Given the description of an element on the screen output the (x, y) to click on. 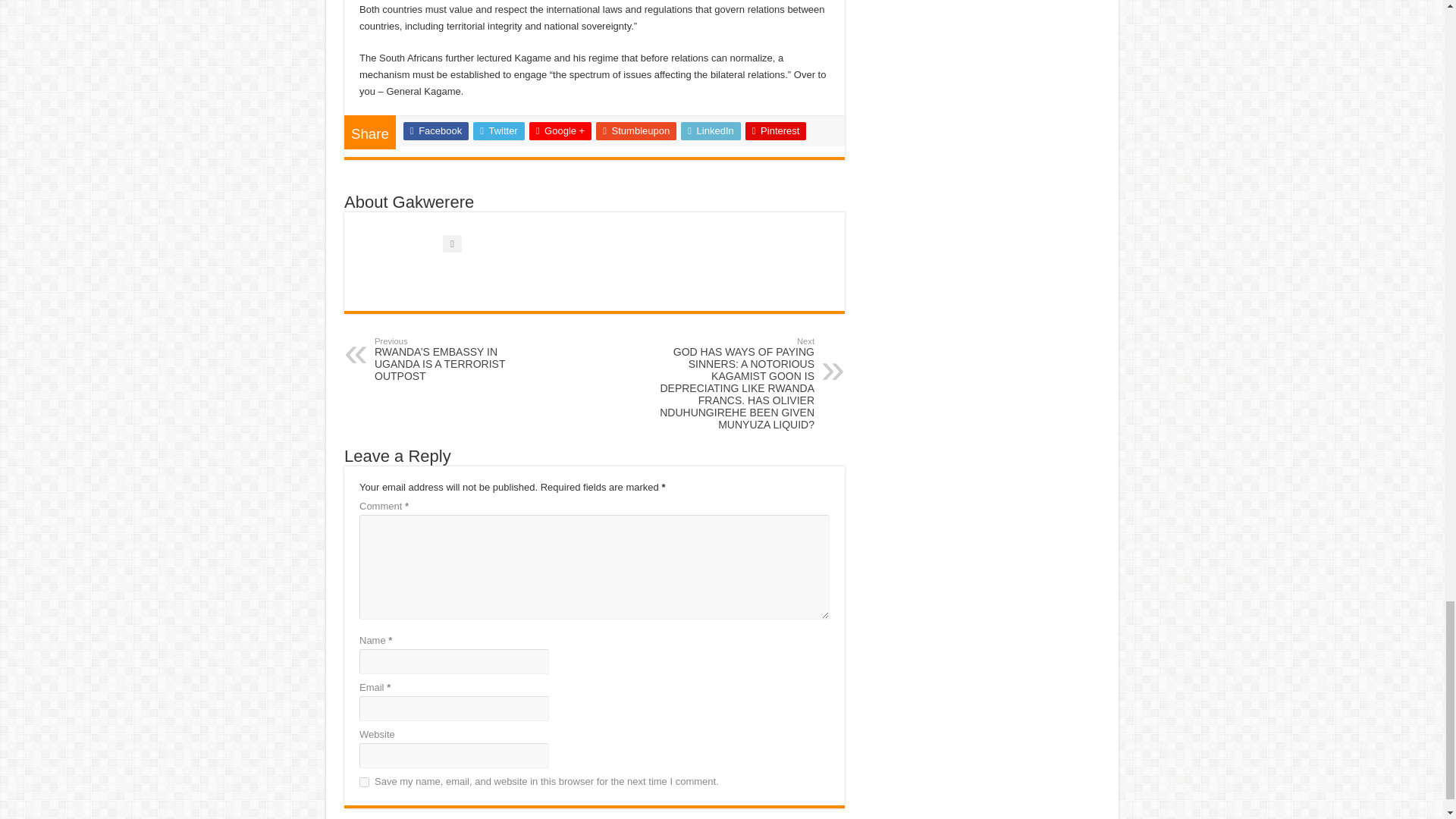
yes (364, 782)
